Given the description of an element on the screen output the (x, y) to click on. 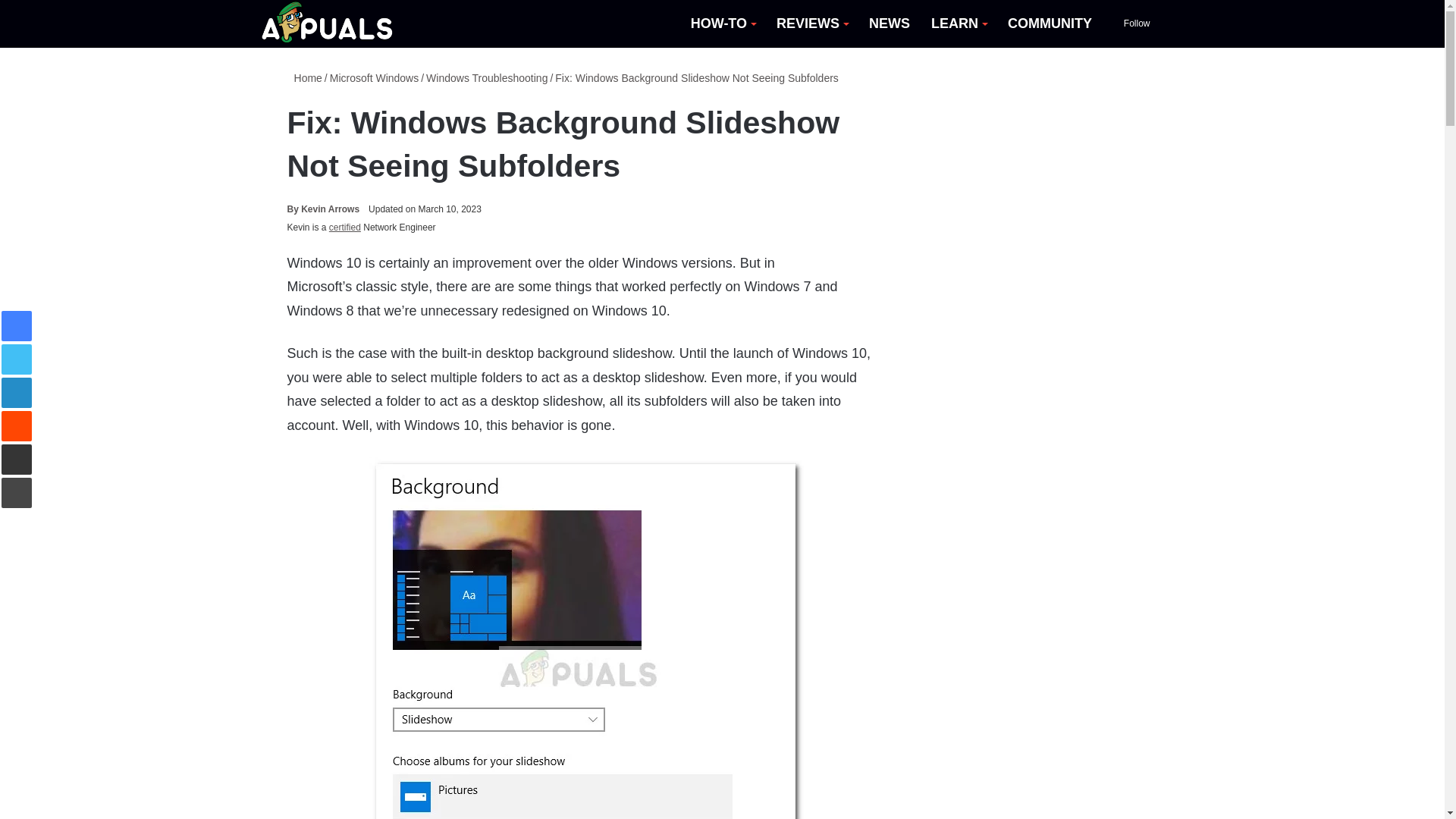
HOW-TO (722, 23)
COMMUNITY (1049, 23)
REVIEWS (812, 23)
Print (16, 492)
Facebook (16, 326)
LEARN (958, 23)
Reddit (16, 426)
NEWS (889, 23)
LinkedIn (16, 392)
Appuals (327, 23)
Share via Email (16, 459)
Twitter (16, 358)
Kevin Arrows (322, 208)
